Given the description of an element on the screen output the (x, y) to click on. 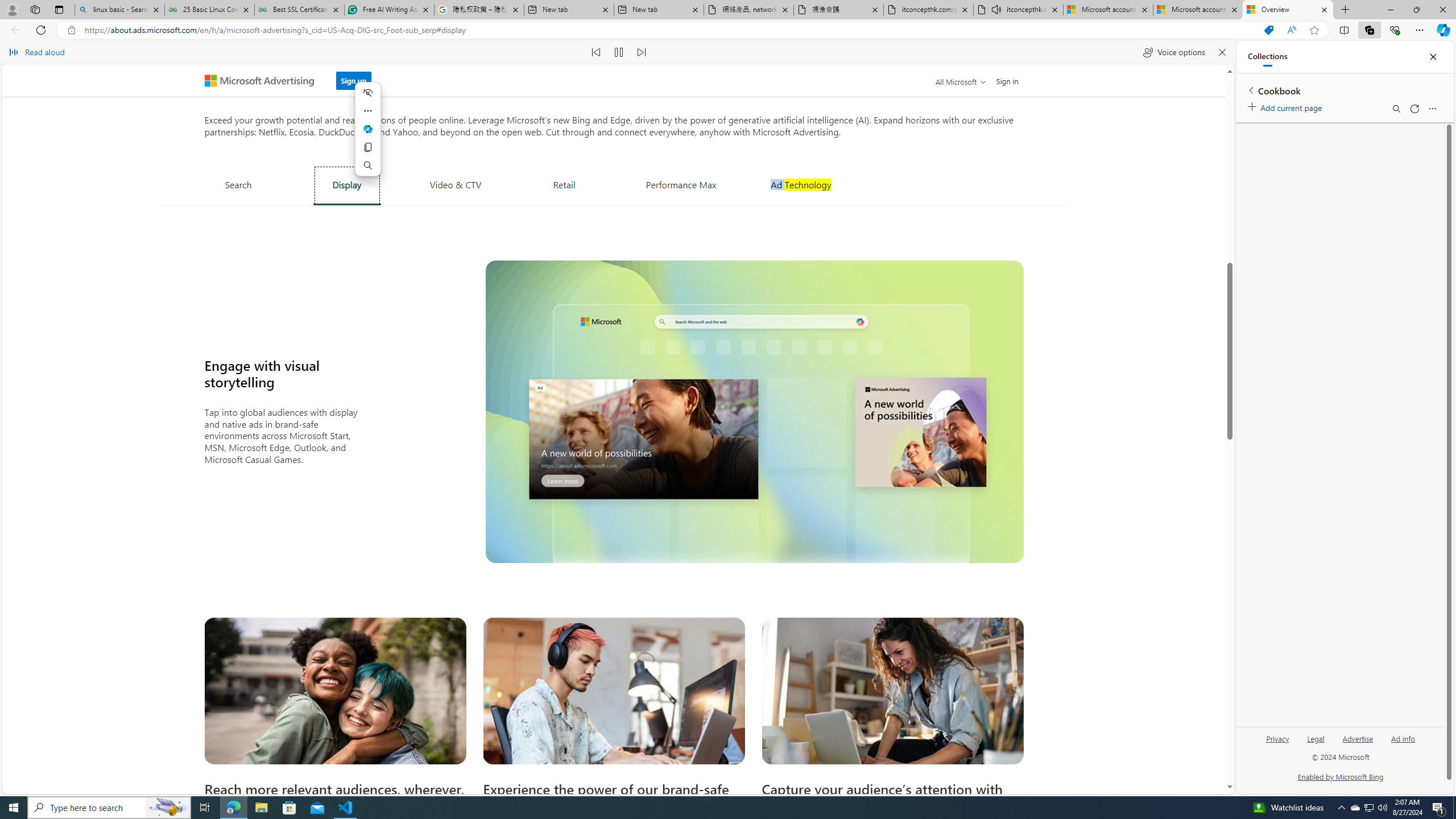
Performance Max (681, 183)
Read next paragraph (641, 52)
Overview (1287, 9)
Microsoft Advertising (263, 79)
Display (347, 184)
itconcepthk.com/projector_solutions.mp4 (928, 9)
Copy (367, 147)
Hide menu (367, 92)
Mini menu on text selection (367, 129)
Sign up (352, 81)
